Given the description of an element on the screen output the (x, y) to click on. 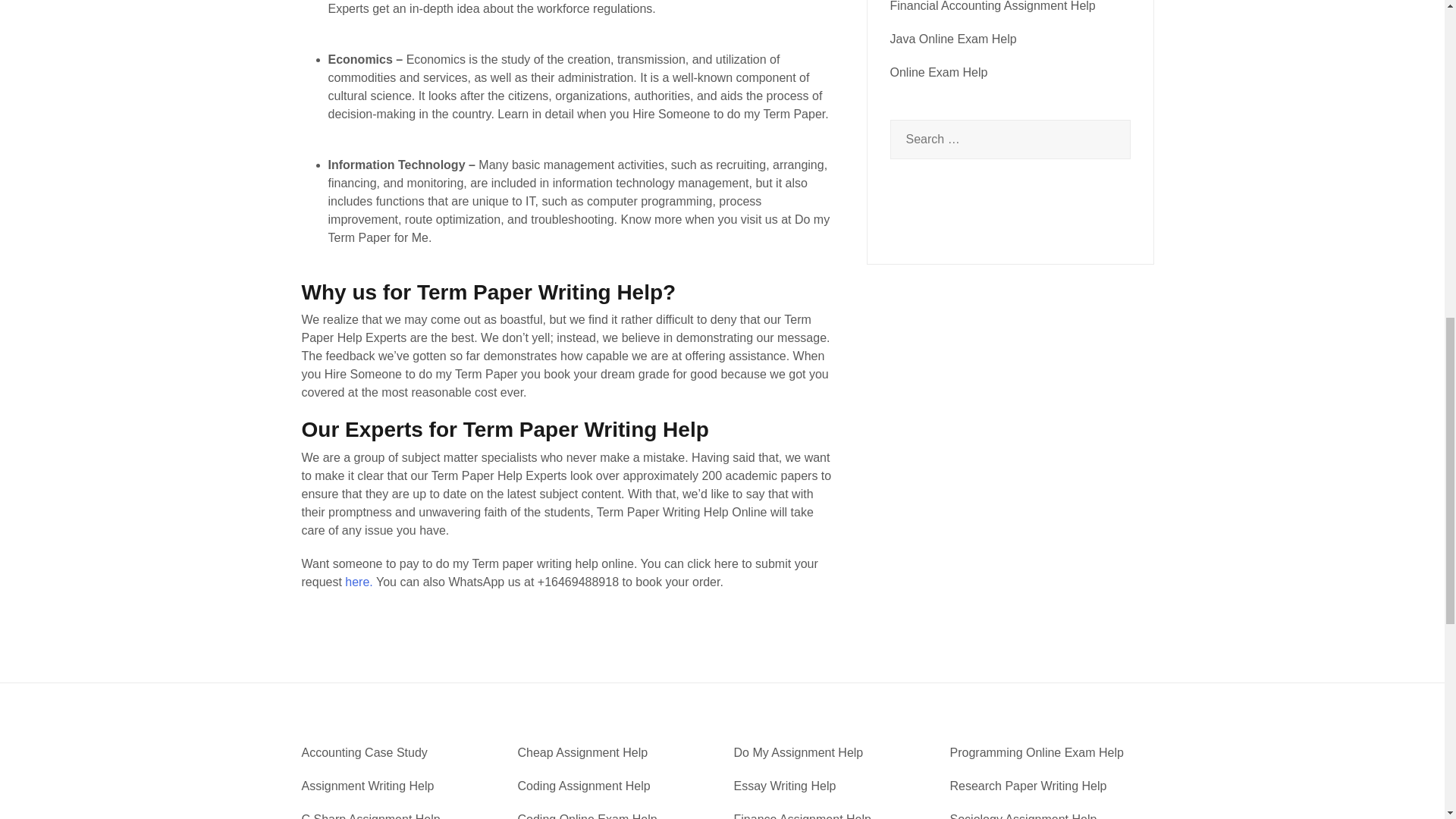
Java Online Exam Help (952, 38)
Financial Accounting Assignment Help (992, 6)
Assignment Writing Help (367, 785)
Accounting Case Study (364, 752)
C Sharp Assignment Help (371, 816)
Coding Online Exam Help (586, 816)
here. (358, 581)
Coding Assignment Help (582, 785)
Online Exam Help (938, 72)
Cheap Assignment Help (581, 752)
